Given the description of an element on the screen output the (x, y) to click on. 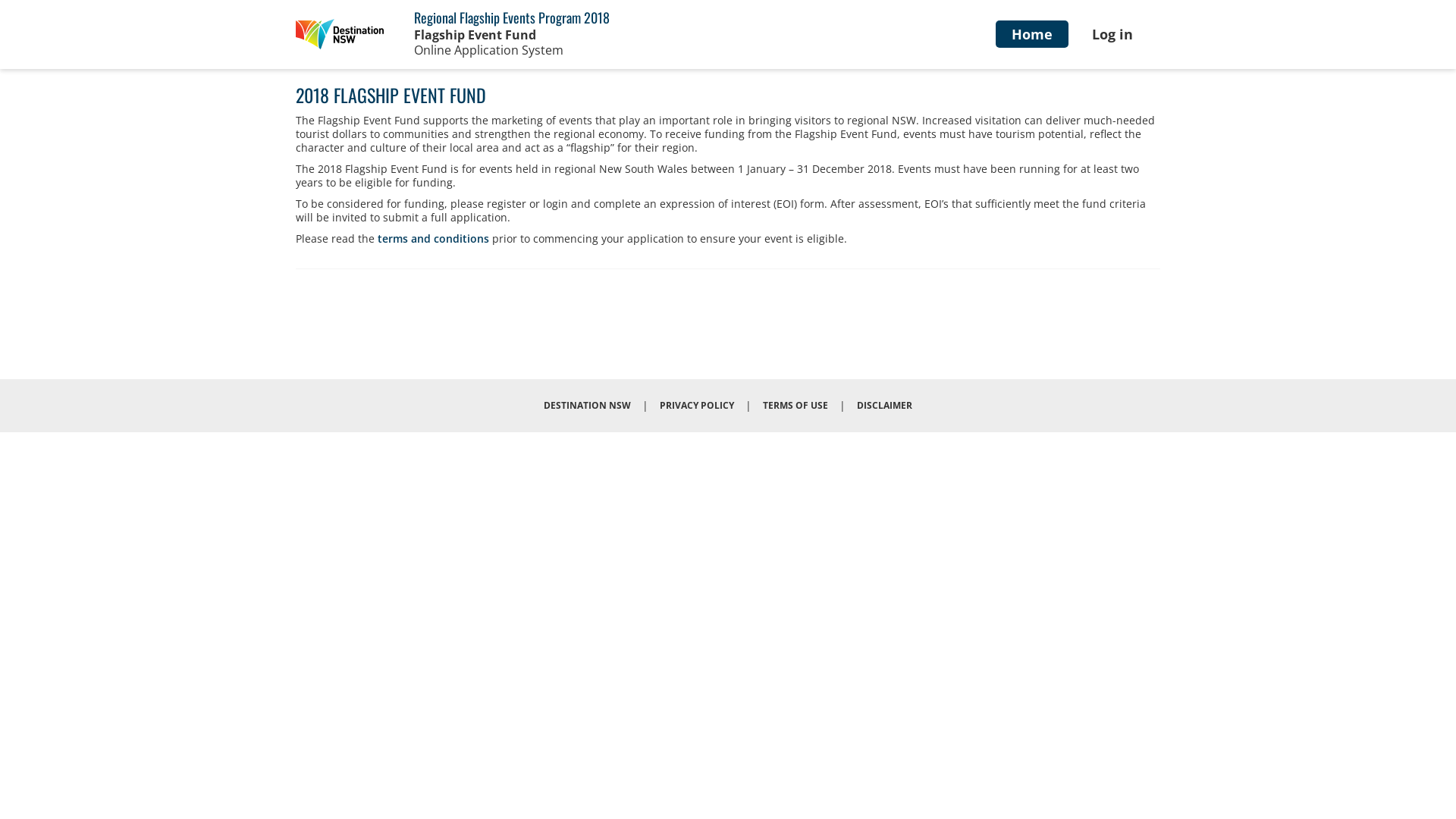
DISCLAIMER Element type: text (884, 405)
terms and conditions Element type: text (433, 238)
Skip to main content Element type: text (0, 0)
Regional Flagship Events Program 2018 Element type: text (511, 17)
Home Element type: text (1031, 33)
PRIVACY POLICY Element type: text (696, 405)
DESTINATION NSW Element type: text (586, 405)
TERMS OF USE Element type: text (795, 405)
Home Element type: hover (339, 33)
Log in Element type: text (1112, 33)
